Given the description of an element on the screen output the (x, y) to click on. 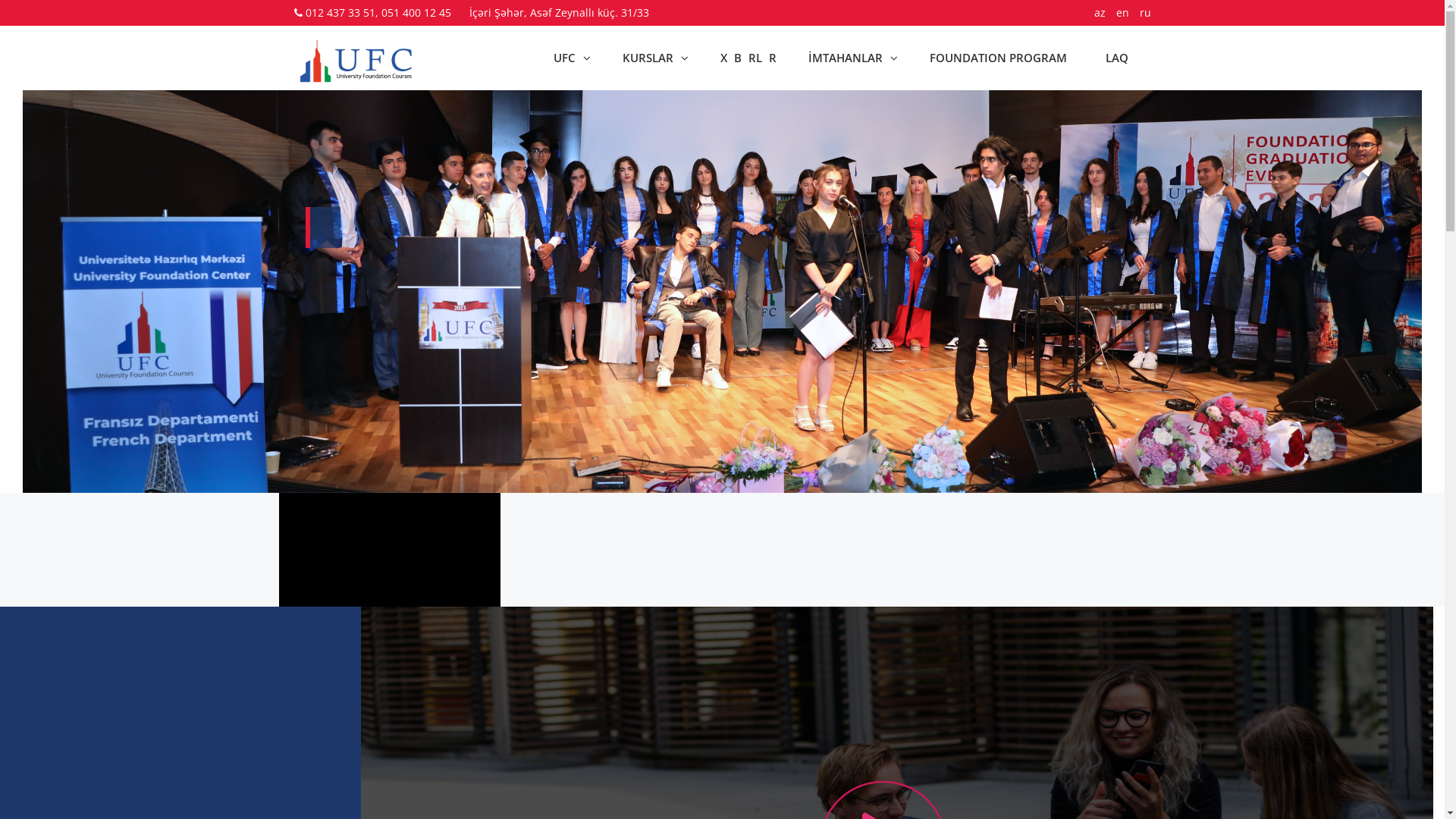
ru Element type: text (1144, 12)
en Element type: text (1122, 12)
az Element type: text (1098, 12)
FOUNDATION PROGRAM Element type: text (998, 57)
KURSLAR Element type: text (654, 57)
012 437 33 51, 051 400 12 45 Element type: text (377, 12)
UFC Element type: text (571, 57)
